Given the description of an element on the screen output the (x, y) to click on. 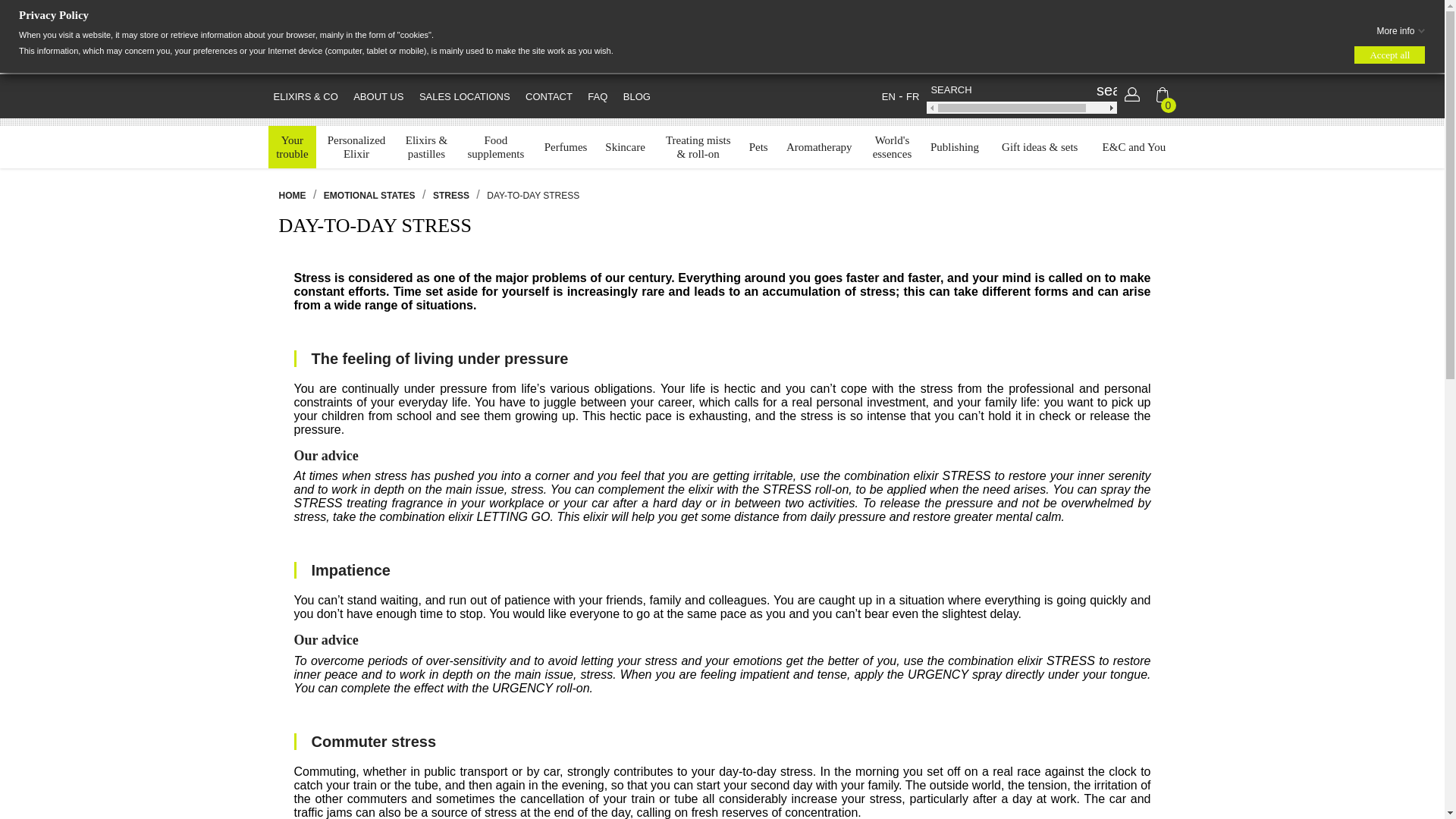
ABOUT US (378, 96)
SALES LOCATIONS (464, 96)
BLOG (636, 96)
Log in to your customer account (1131, 98)
FR (292, 147)
EN (911, 96)
CONTACT (888, 96)
FAQ (548, 96)
